Given the description of an element on the screen output the (x, y) to click on. 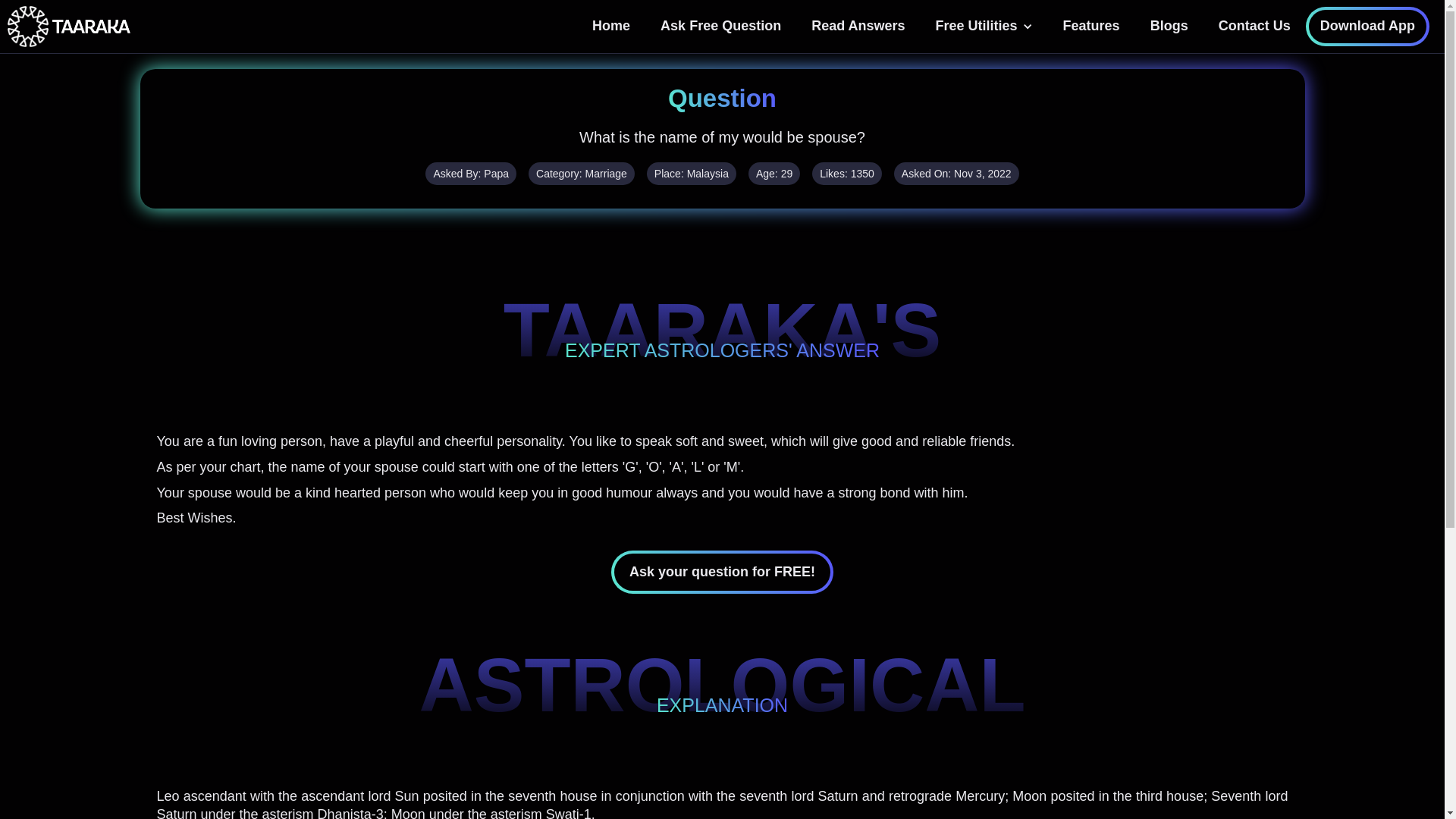
Contact Us (1255, 25)
Ask Free Question (720, 25)
Read Answers (858, 25)
Features (1091, 25)
Blogs (1169, 25)
Download App (1367, 25)
Ask your question for FREE! (721, 571)
Home (610, 25)
